Given the description of an element on the screen output the (x, y) to click on. 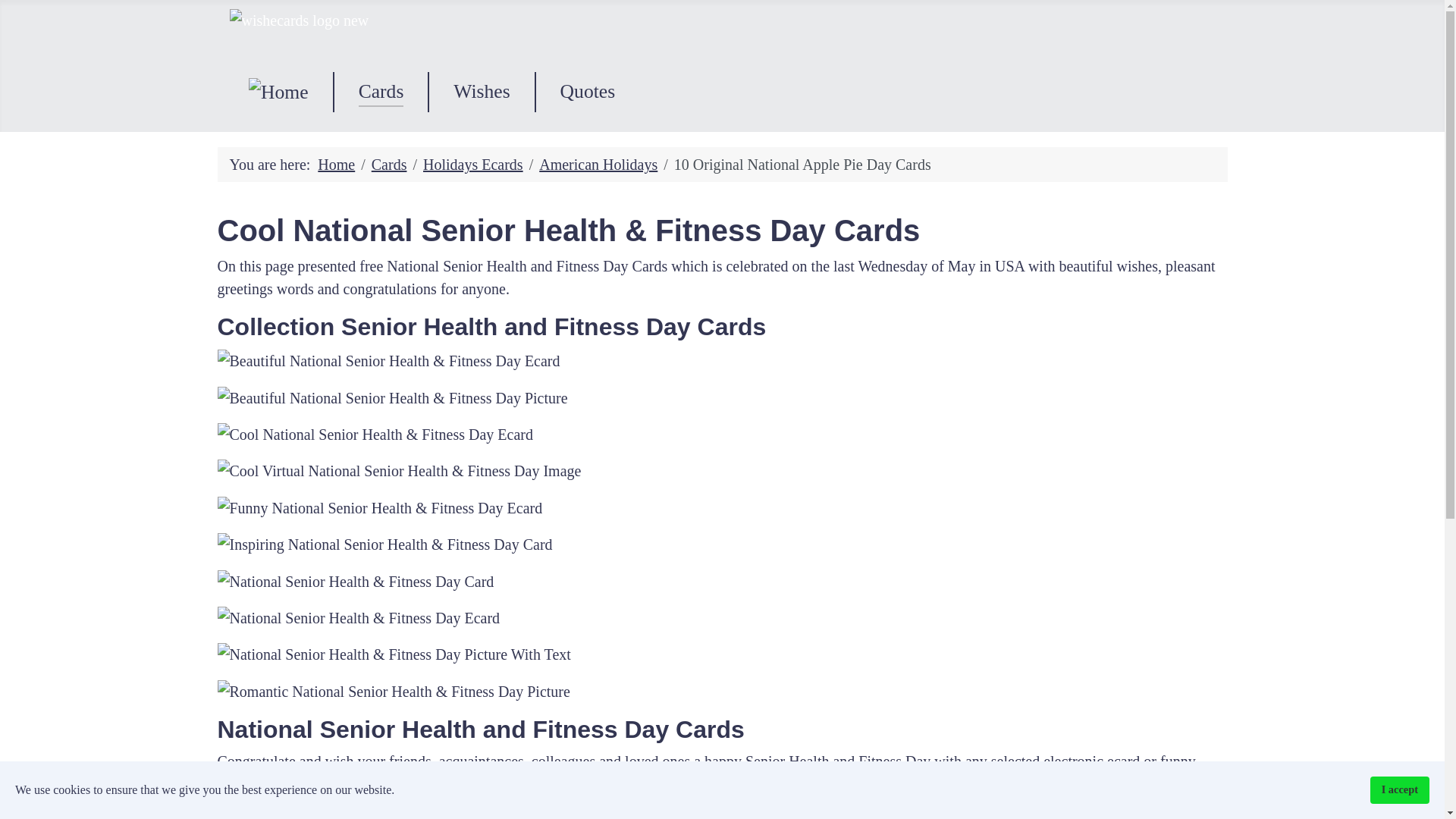
I accept (1399, 789)
Quotes (587, 91)
American Holidays (598, 164)
Cards (389, 164)
Holidays Ecards (472, 164)
Home (336, 164)
Cards (381, 91)
Wishes (480, 91)
